Given the description of an element on the screen output the (x, y) to click on. 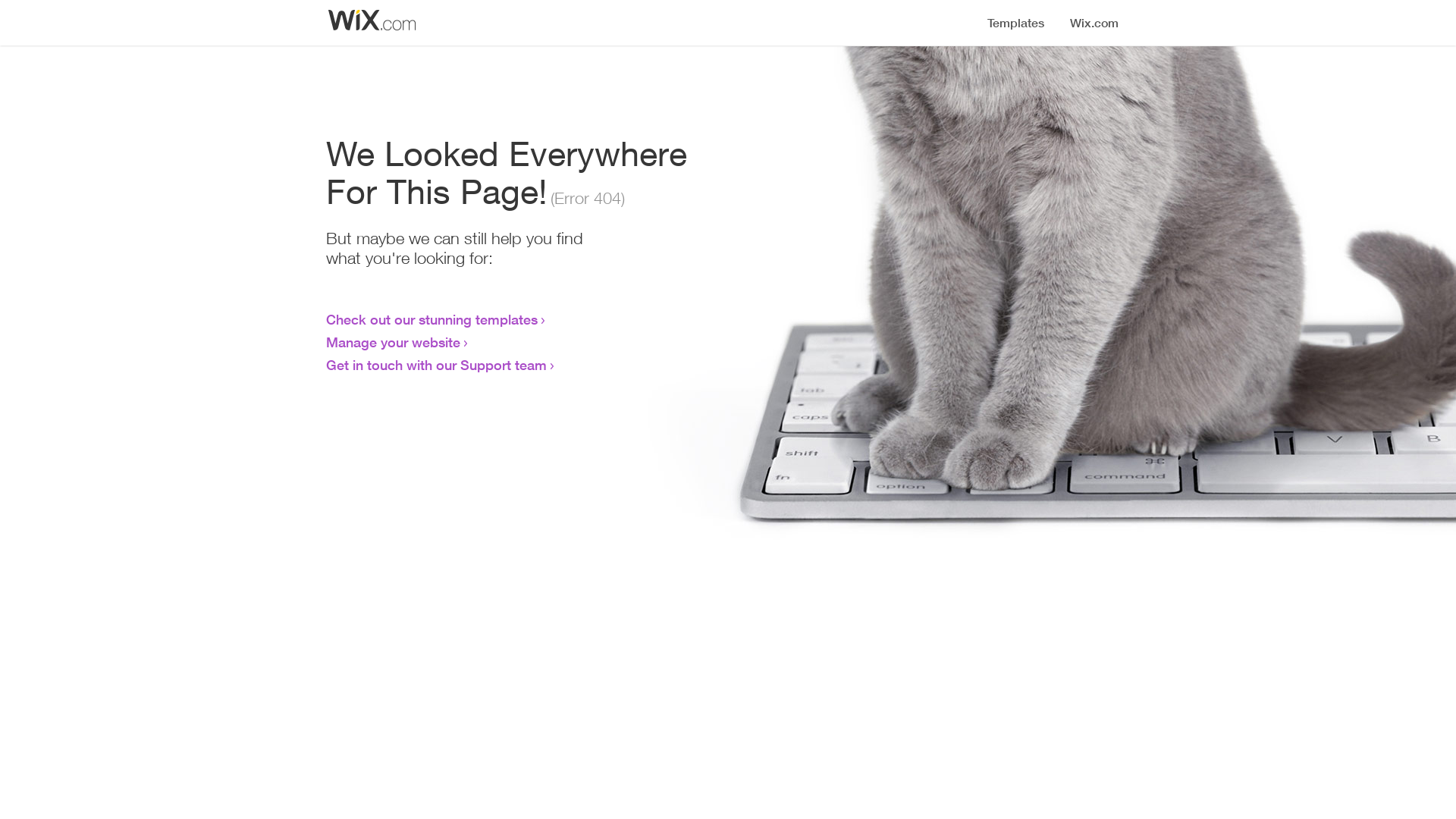
Check out our stunning templates Element type: text (431, 318)
Get in touch with our Support team Element type: text (436, 364)
Manage your website Element type: text (393, 341)
